Given the description of an element on the screen output the (x, y) to click on. 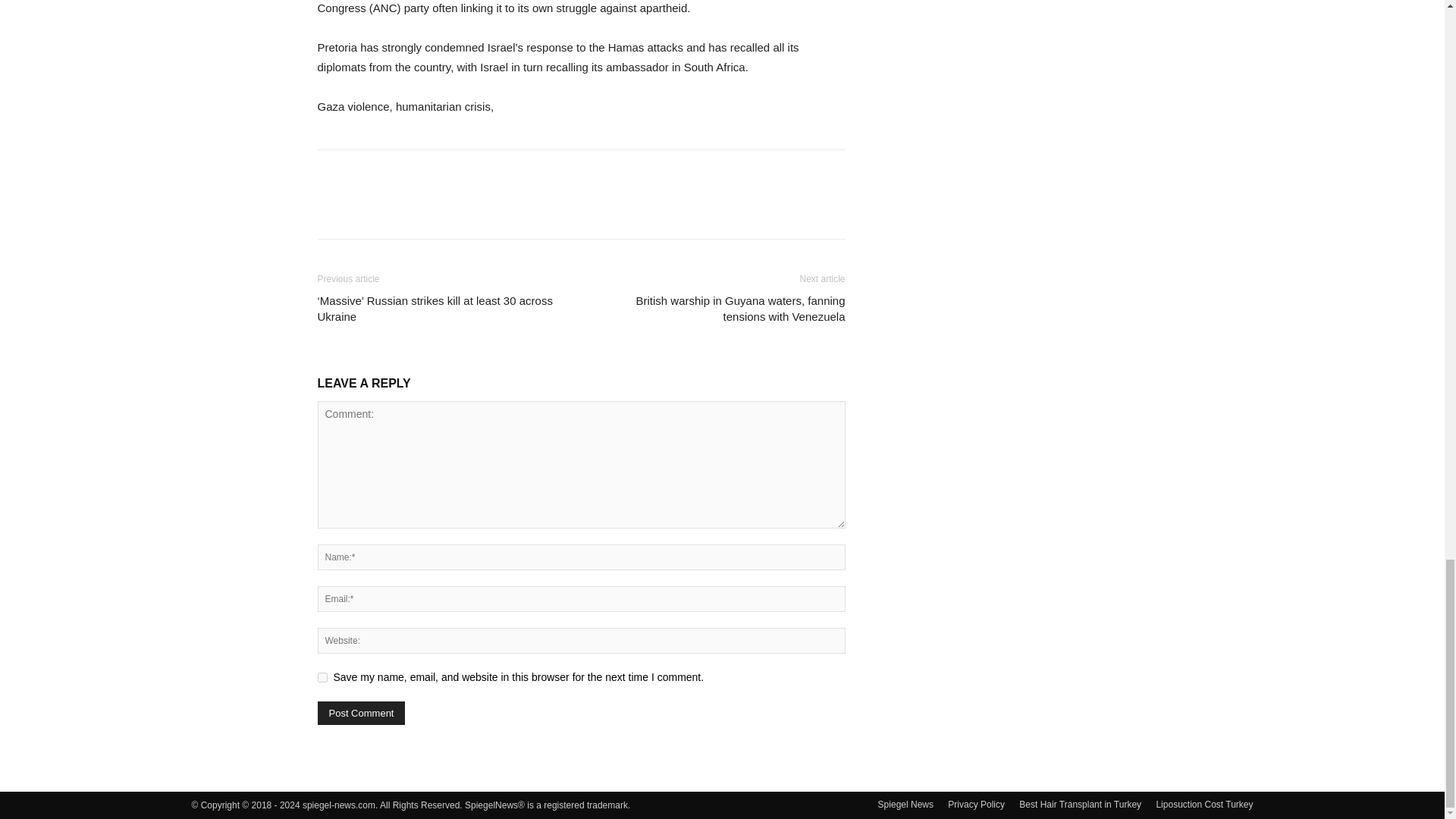
Post Comment (360, 712)
Spiegel News (905, 804)
Privacy Policy (975, 804)
yes (321, 677)
Post Comment (360, 712)
